Given the description of an element on the screen output the (x, y) to click on. 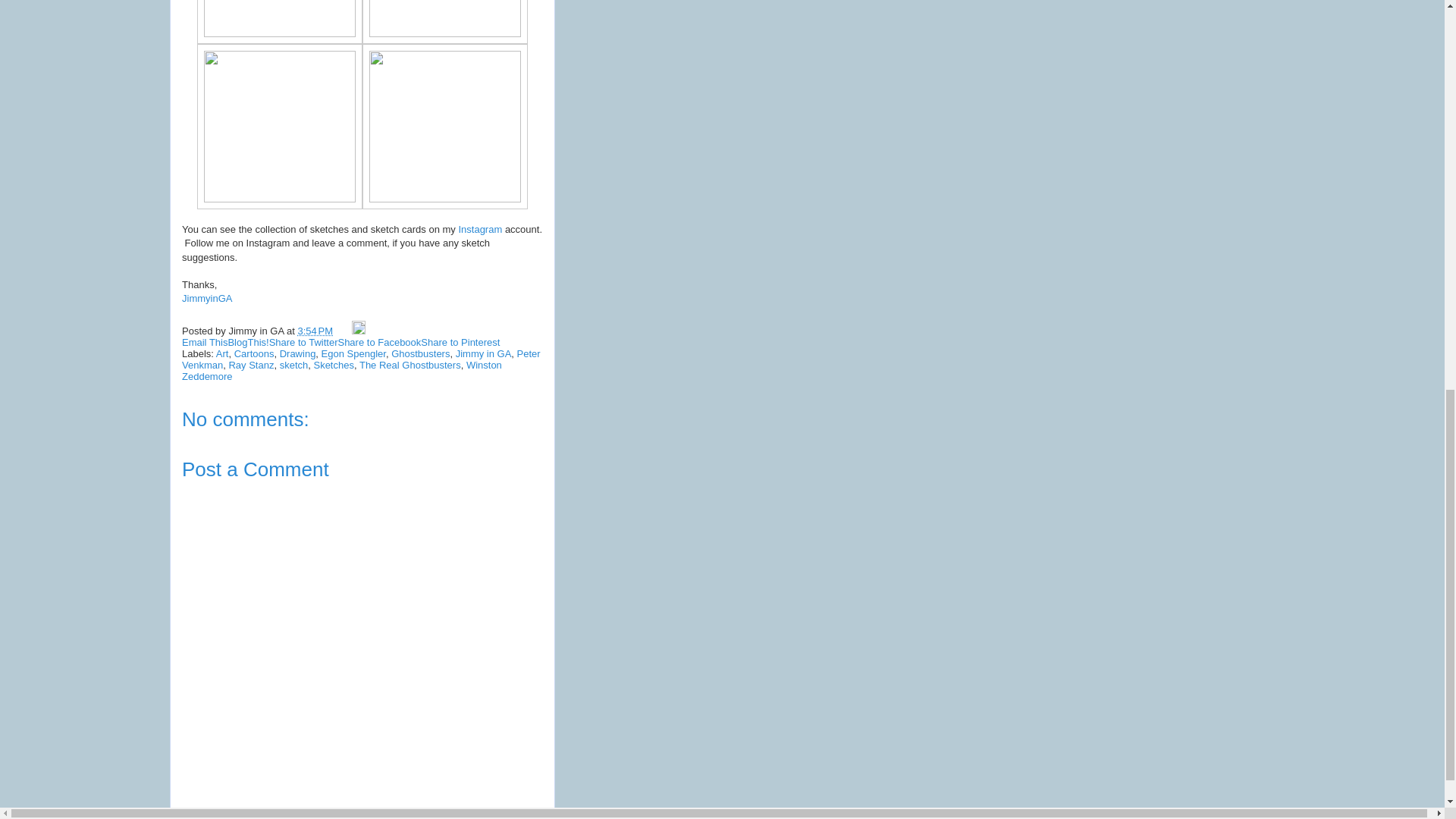
Share to Facebook (378, 342)
Art (221, 353)
Share to Twitter (303, 342)
Share to Facebook (378, 342)
Drawing (297, 353)
Email This (204, 342)
Sketches (333, 365)
sketch (293, 365)
Jimmy in GA (483, 353)
Winston Zeddemore (342, 370)
permanent link (315, 330)
Ghostbusters (420, 353)
Email This (204, 342)
Ray Stanz (250, 365)
